Given the description of an element on the screen output the (x, y) to click on. 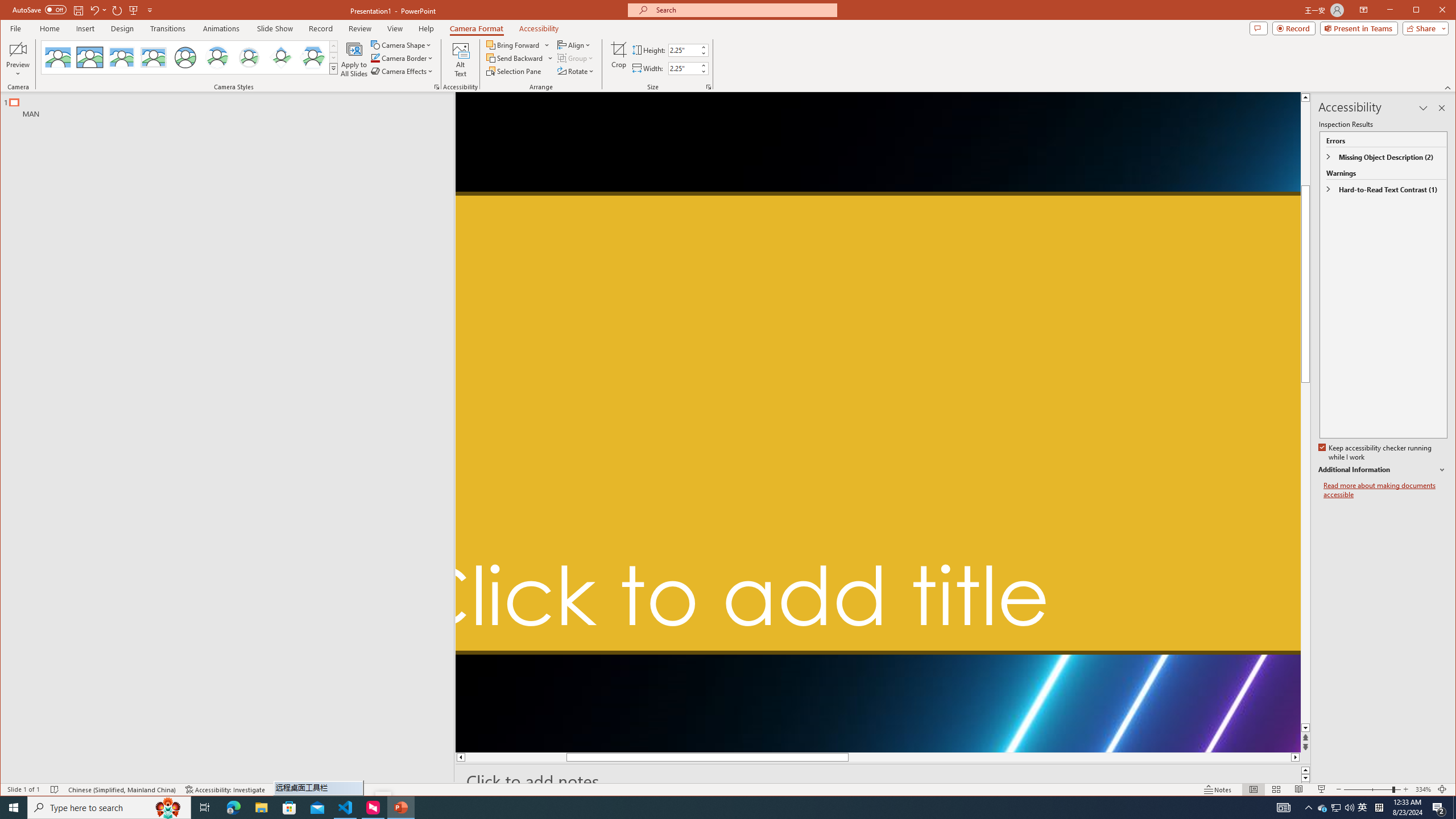
Center Shadow Rectangle (122, 57)
Running applications (700, 807)
Center Shadow Diamond (280, 57)
Microsoft Edge (233, 807)
Cameo Height (683, 50)
Camera Border (402, 57)
